Given the description of an element on the screen output the (x, y) to click on. 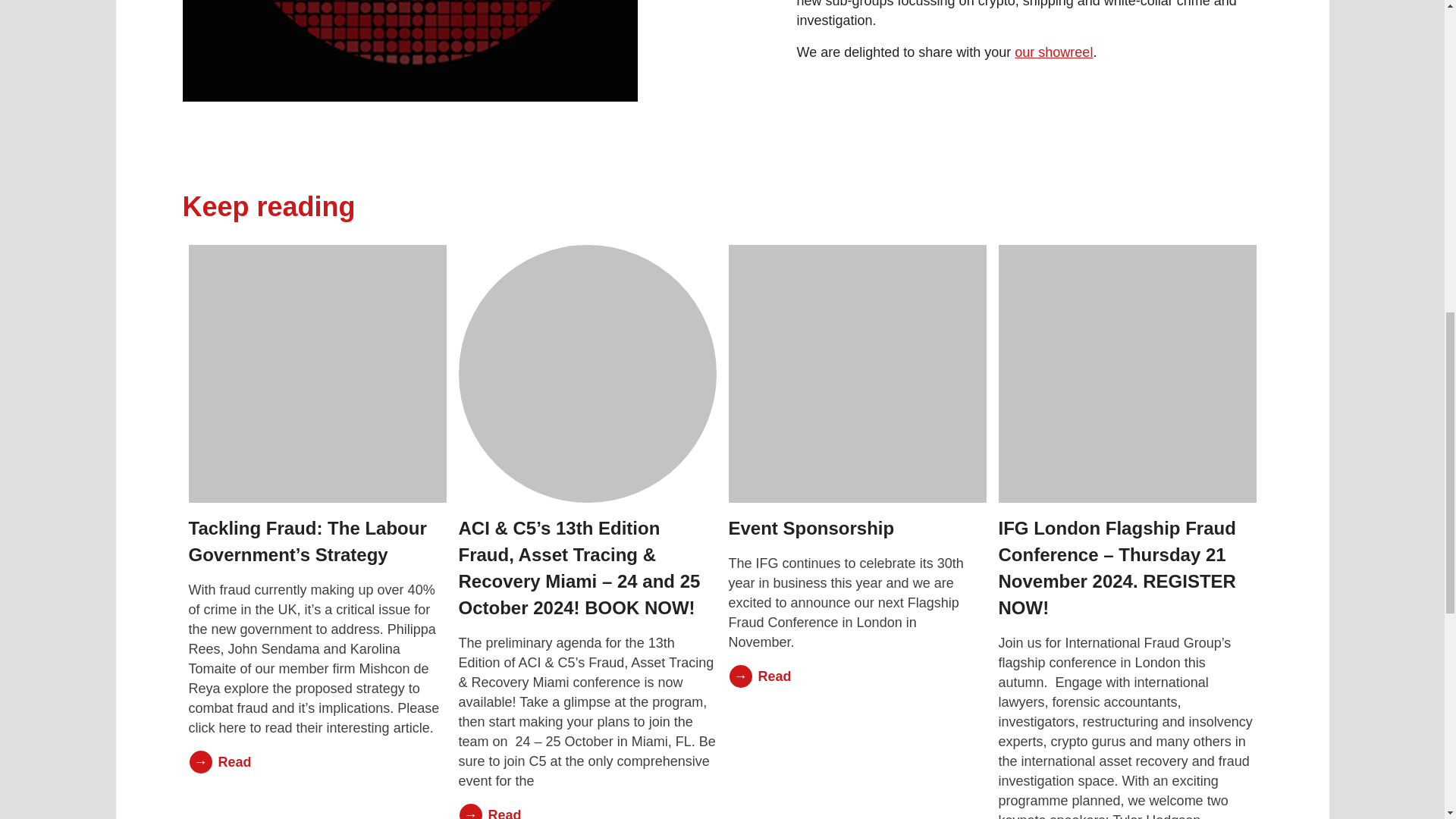
Read (316, 761)
our showreel (1053, 52)
Read (856, 676)
Read (587, 811)
